Given the description of an element on the screen output the (x, y) to click on. 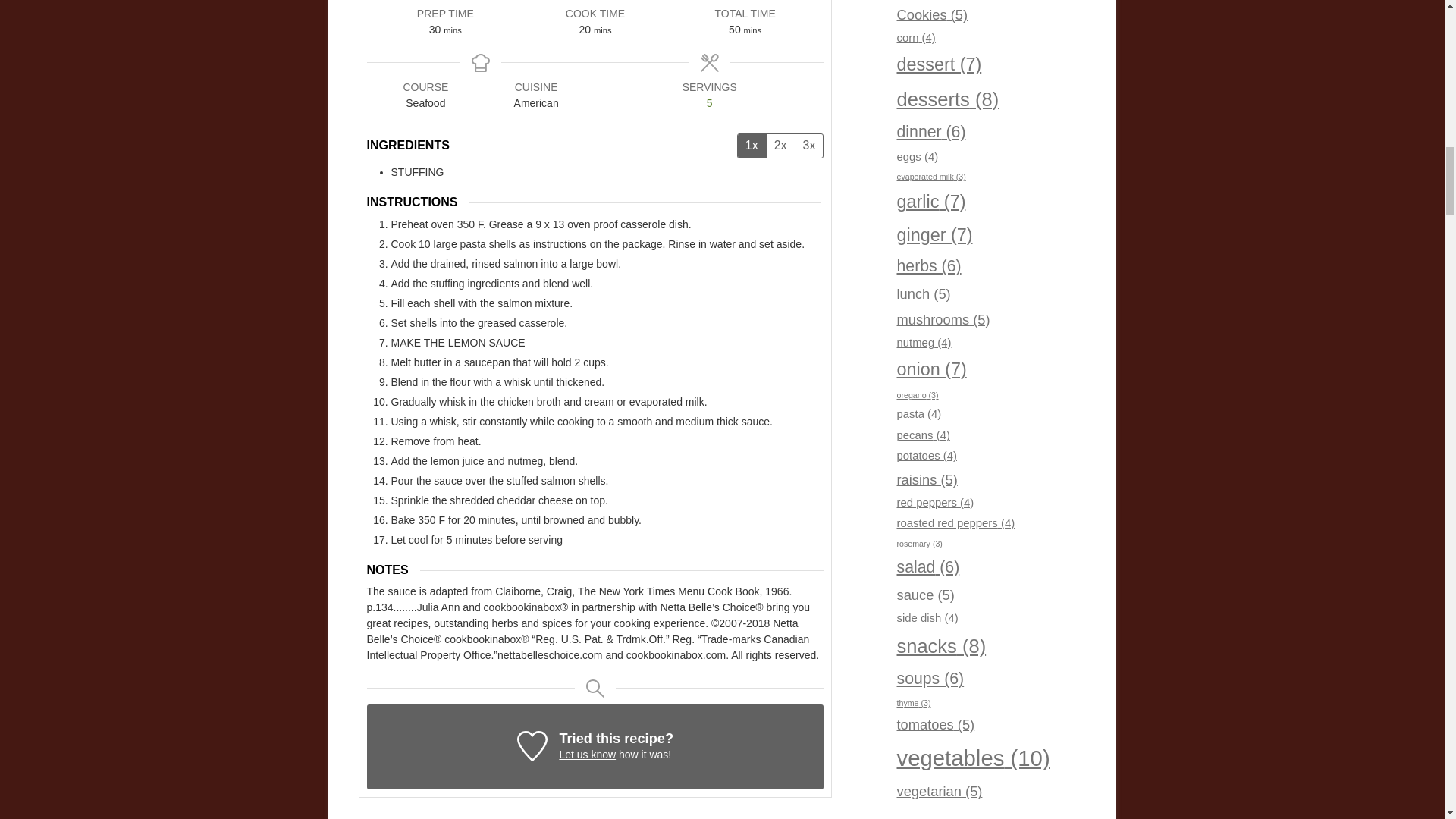
Let us know (587, 754)
3x (809, 146)
2x (779, 146)
1x (751, 146)
5 (709, 103)
